Given the description of an element on the screen output the (x, y) to click on. 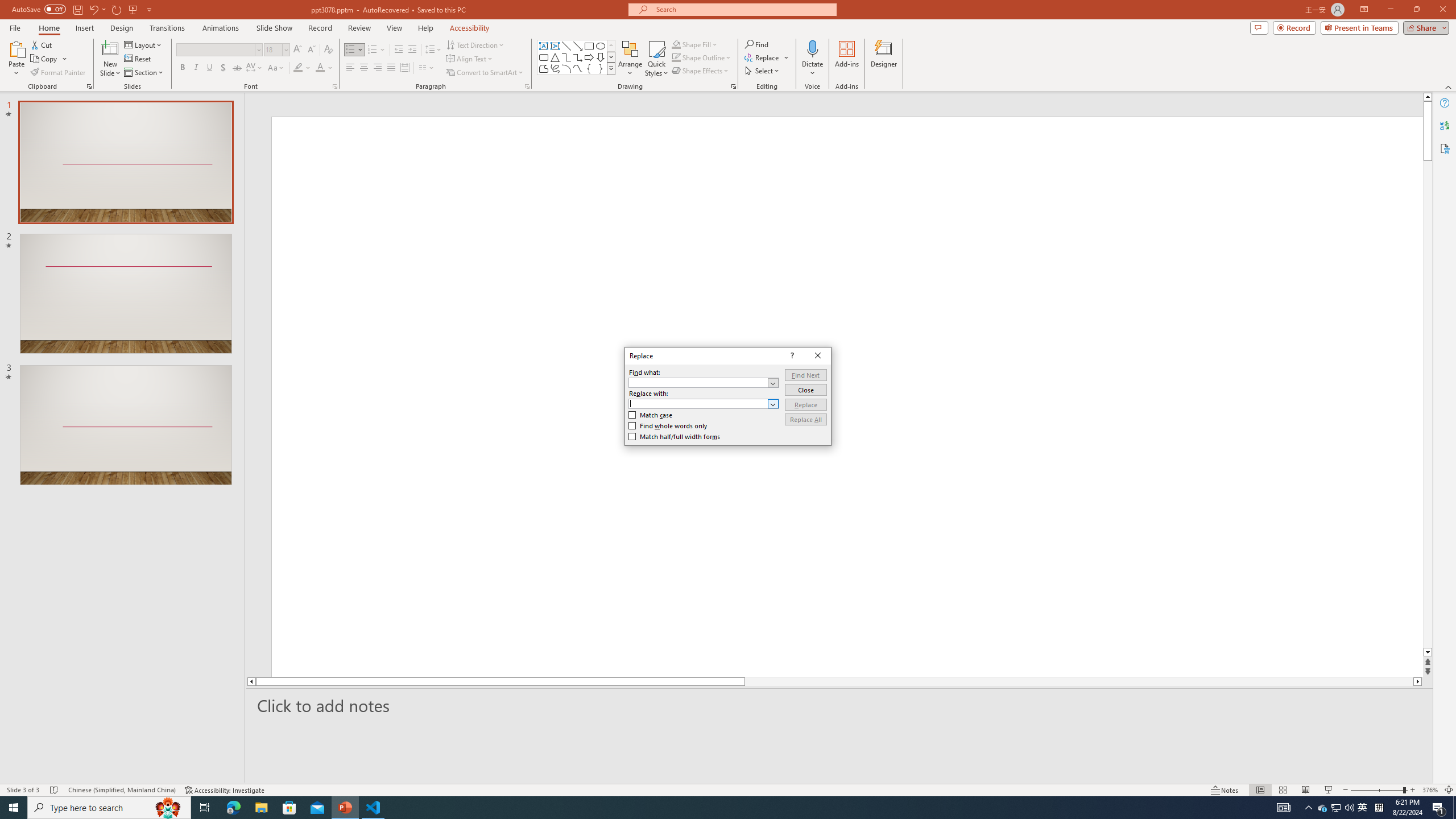
Shape Outline Green, Accent 1 (675, 56)
Font (219, 49)
Font Color (324, 67)
Microsoft search (742, 9)
Shape Outline (701, 56)
Replace (805, 404)
Action Center, 1 new notification (1439, 807)
Character Spacing (254, 67)
Left Brace (589, 68)
